Given the description of an element on the screen output the (x, y) to click on. 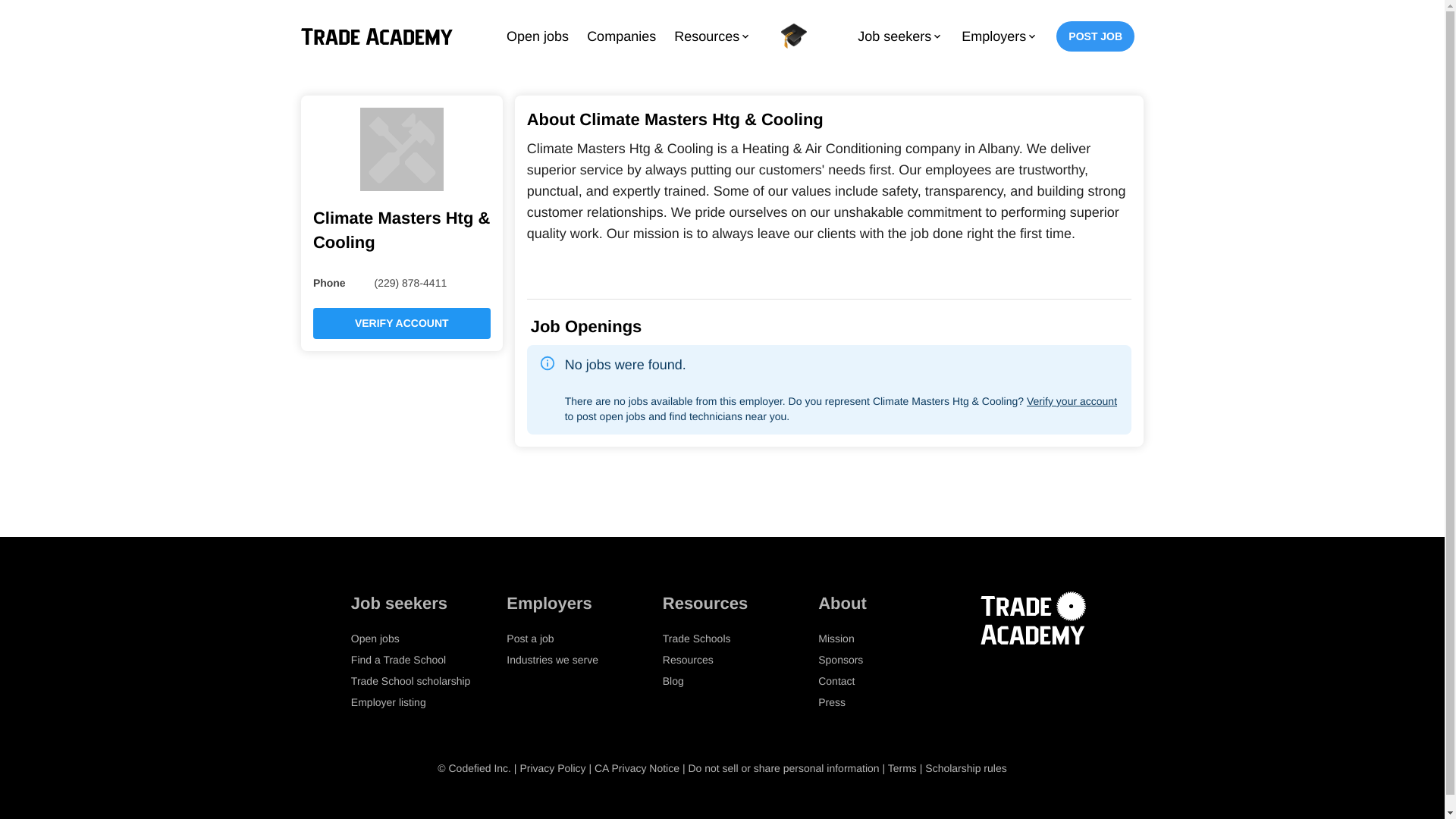
VERIFY ACCOUNT (401, 323)
POST JOB (1095, 36)
Trade Schools (696, 638)
Contact (836, 680)
Sponsors (840, 659)
Post a job (529, 638)
Mission (835, 638)
CA Privacy Notice (636, 767)
Verify your account (1071, 400)
Open jobs (537, 36)
Blog (673, 680)
Trade School scholarship (410, 680)
Companies (621, 36)
Terms (902, 767)
Do not sell or share personal information (783, 767)
